Given the description of an element on the screen output the (x, y) to click on. 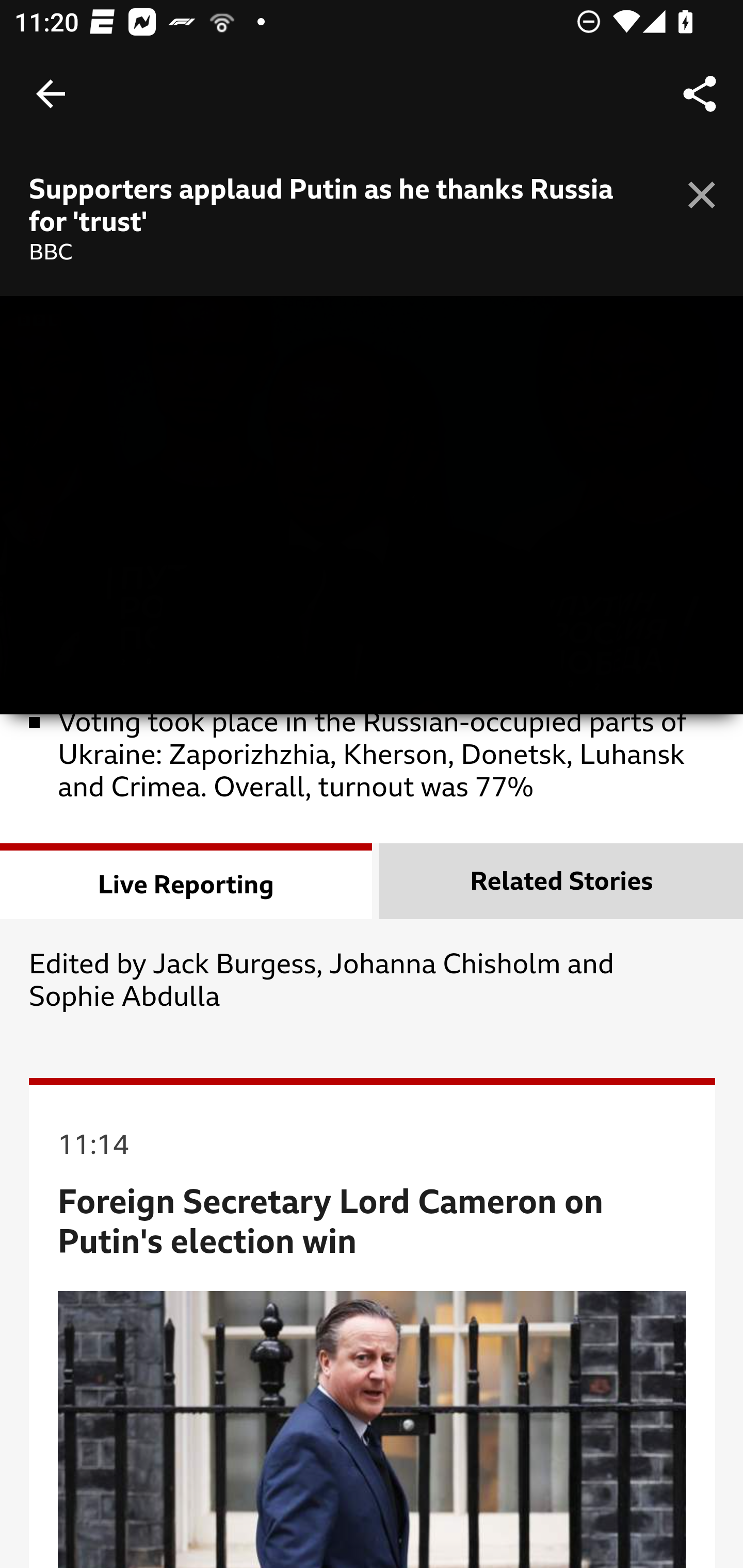
Back (50, 93)
Share (699, 93)
Live Reporting (186, 881)
Related Stories (560, 881)
